Given the description of an element on the screen output the (x, y) to click on. 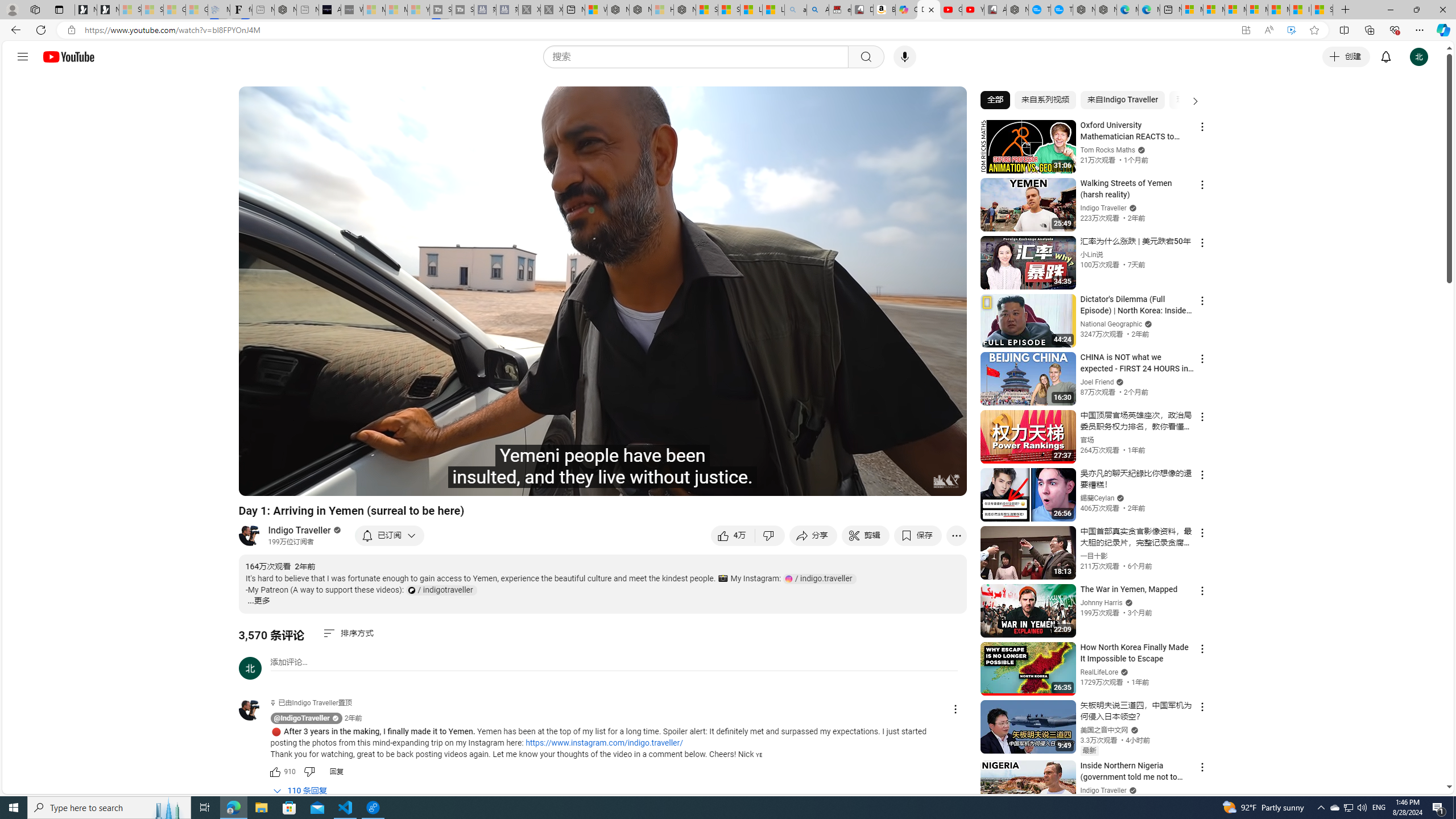
All Cubot phones (995, 9)
Nordace - Nordace Siena Is Not An Ordinary Backpack (684, 9)
amazon - Search - Sleeping (795, 9)
